Given the description of an element on the screen output the (x, y) to click on. 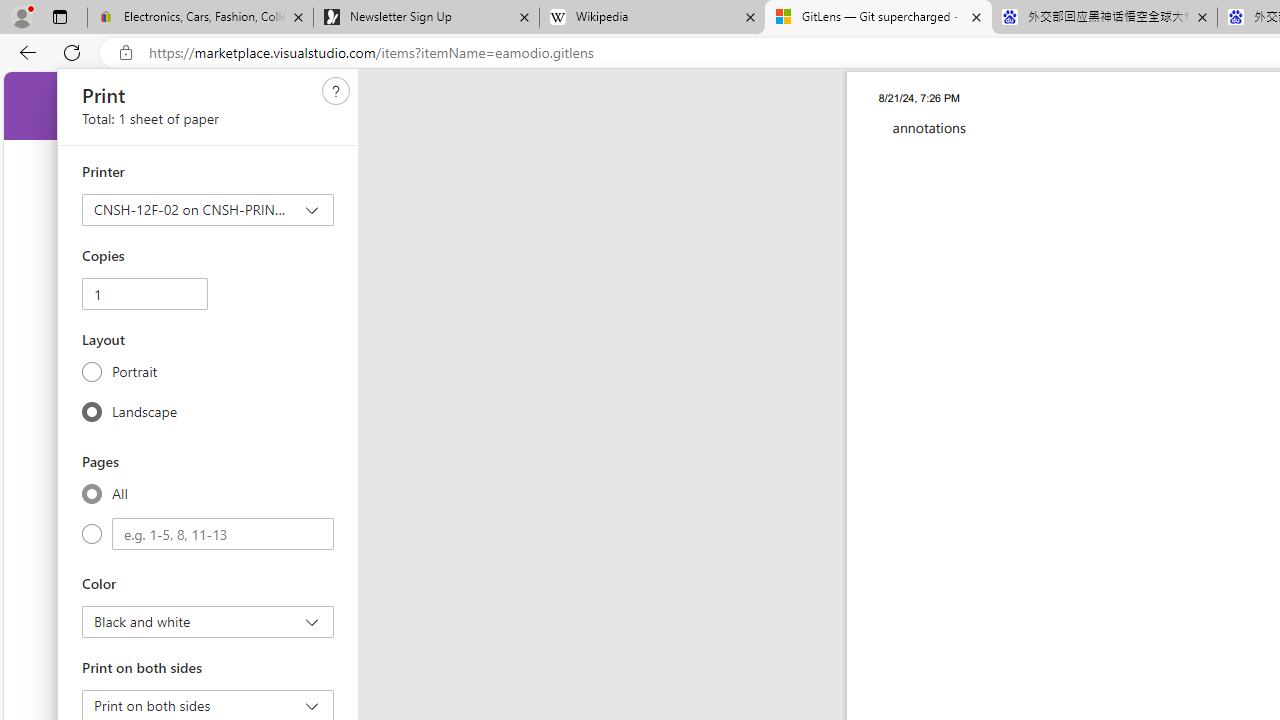
Landscape (91, 411)
Custom (223, 533)
Custom (91, 534)
All (91, 493)
Color Black and white (207, 621)
Class: c0129 (335, 90)
Need help (335, 91)
Printer CNSH-12F-02 on CNSH-PRINT-01 (207, 209)
Copies (144, 293)
Portrait (91, 372)
